Given the description of an element on the screen output the (x, y) to click on. 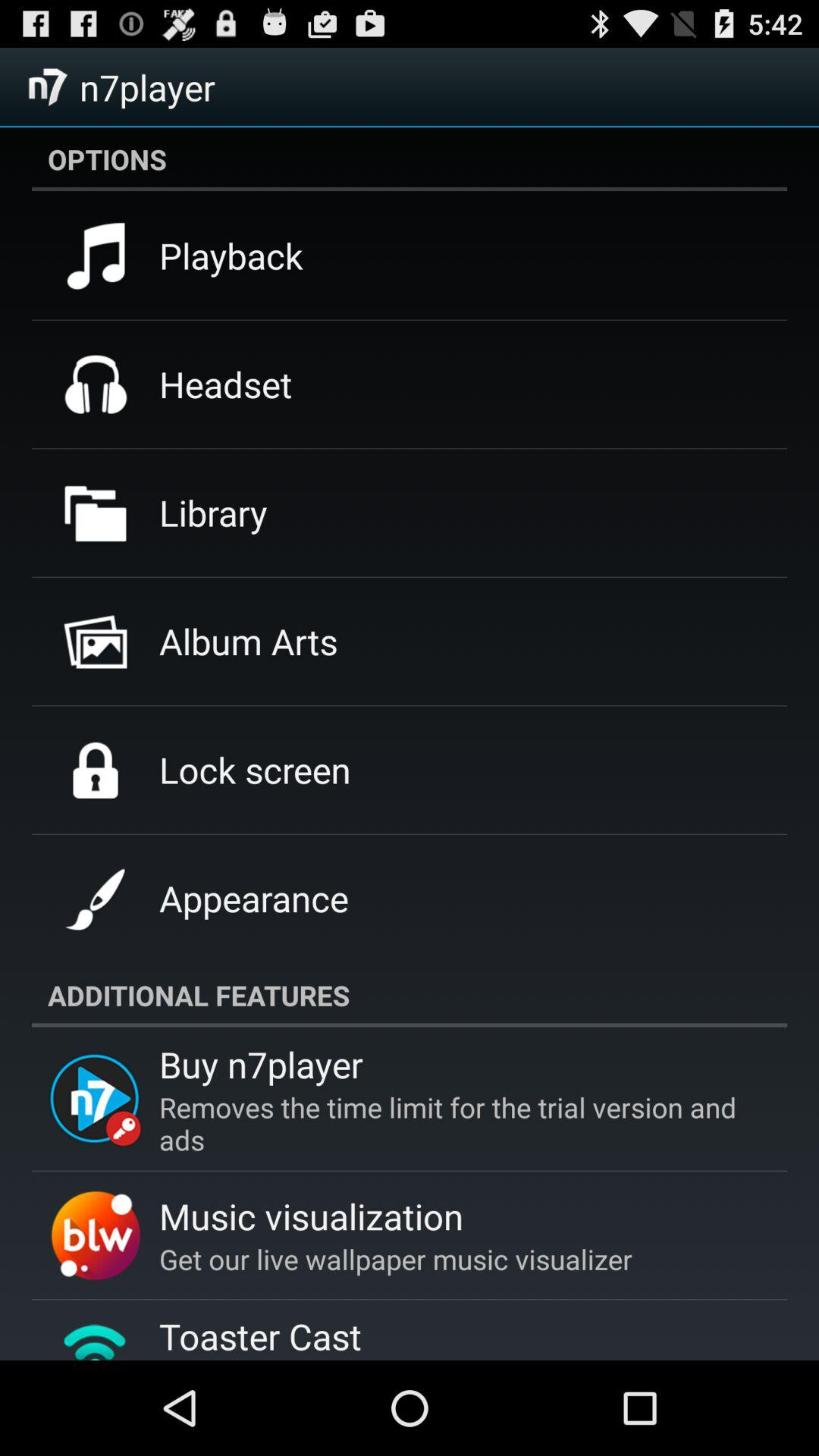
choose headset (225, 384)
